Given the description of an element on the screen output the (x, y) to click on. 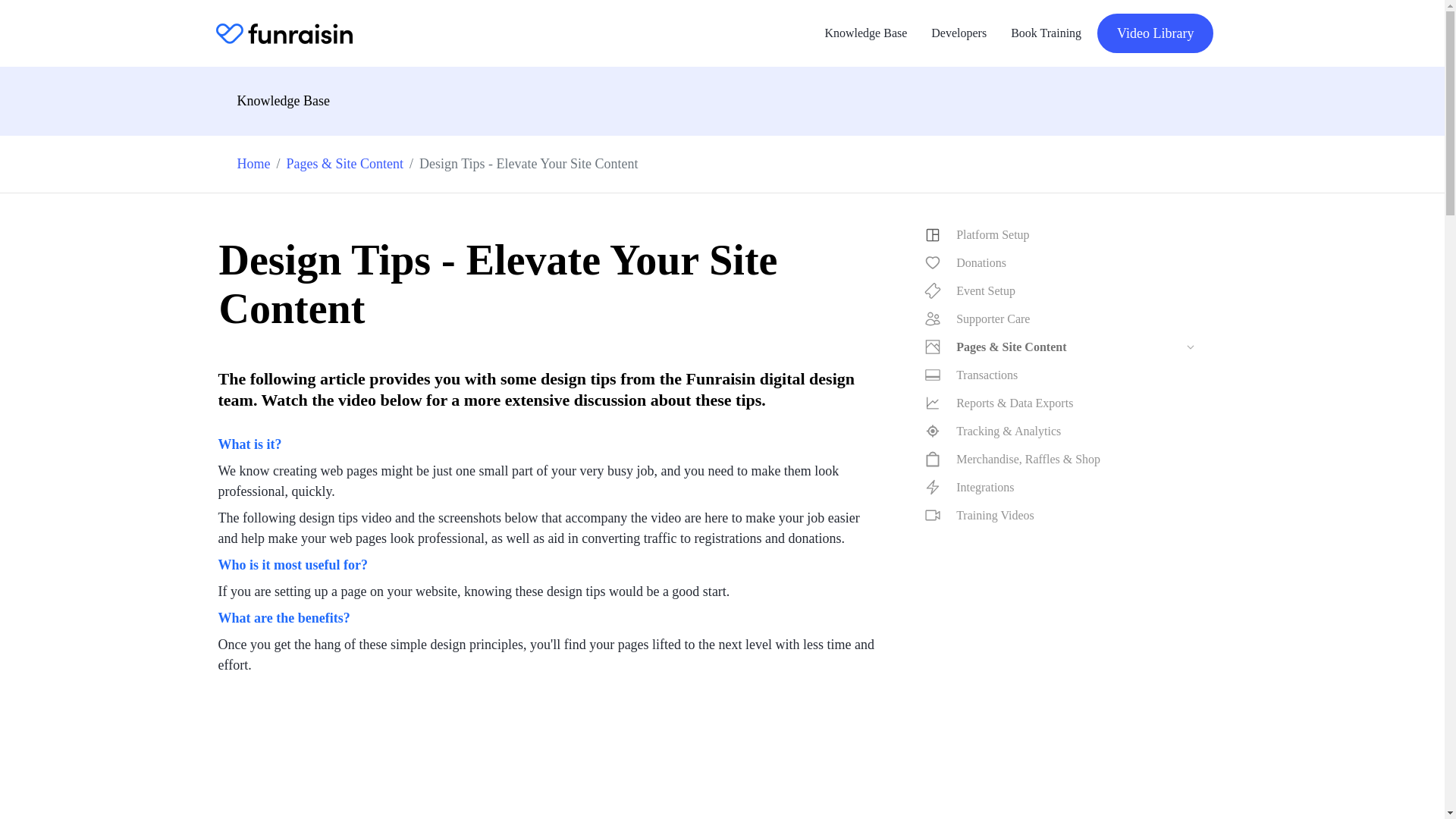
Platform Setup (1065, 235)
Video Library (1154, 33)
Home (252, 163)
Developers (958, 33)
Book Training (1045, 33)
Knowledge Base (865, 33)
